Given the description of an element on the screen output the (x, y) to click on. 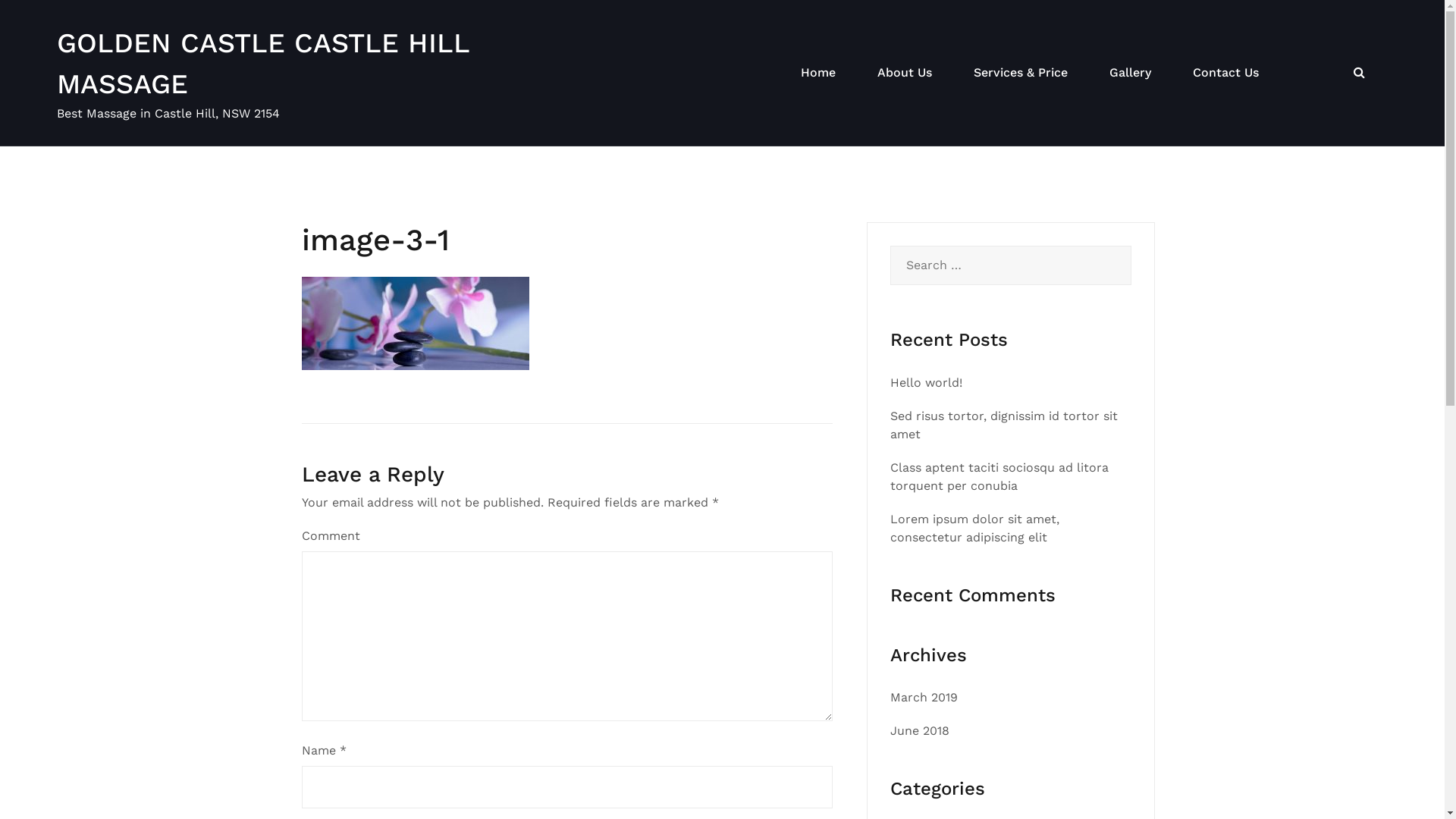
Search Element type: text (46, 19)
Class aptent taciti sociosqu ad litora torquent per conubia Element type: text (999, 476)
About Us Element type: text (904, 72)
GOLDEN CASTLE CASTLE HILL MASSAGE Element type: text (262, 63)
June 2018 Element type: text (919, 730)
Lorem ipsum dolor sit amet, consectetur adipiscing elit Element type: text (974, 527)
Home Element type: text (817, 72)
March 2019 Element type: text (923, 697)
Sed risus tortor, dignissim id tortor sit amet Element type: text (1003, 424)
Services & Price Element type: text (1020, 72)
Hello world! Element type: text (926, 382)
Gallery Element type: text (1130, 72)
Contact Us Element type: text (1225, 72)
